Given the description of an element on the screen output the (x, y) to click on. 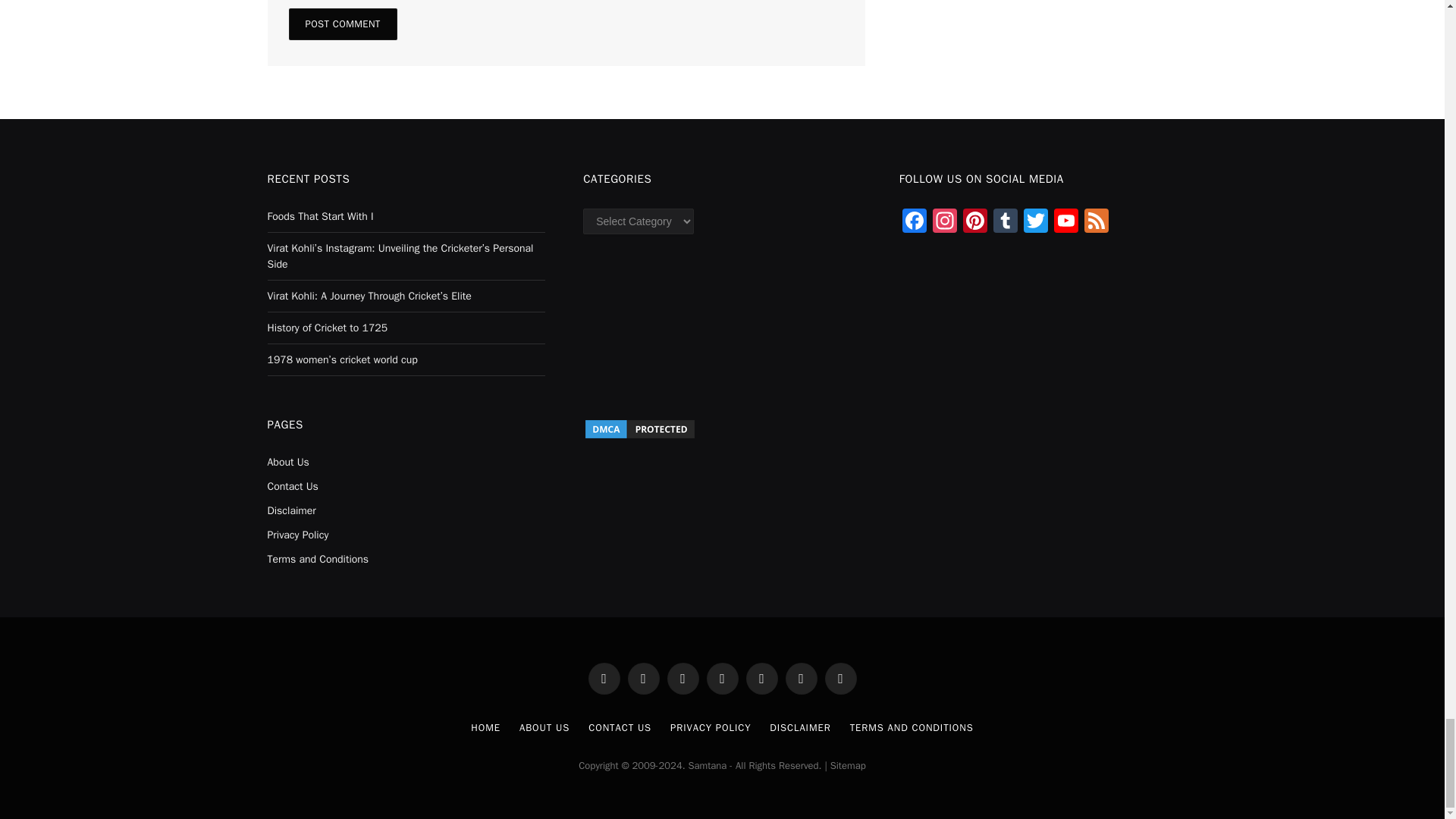
Post Comment (342, 24)
